Given the description of an element on the screen output the (x, y) to click on. 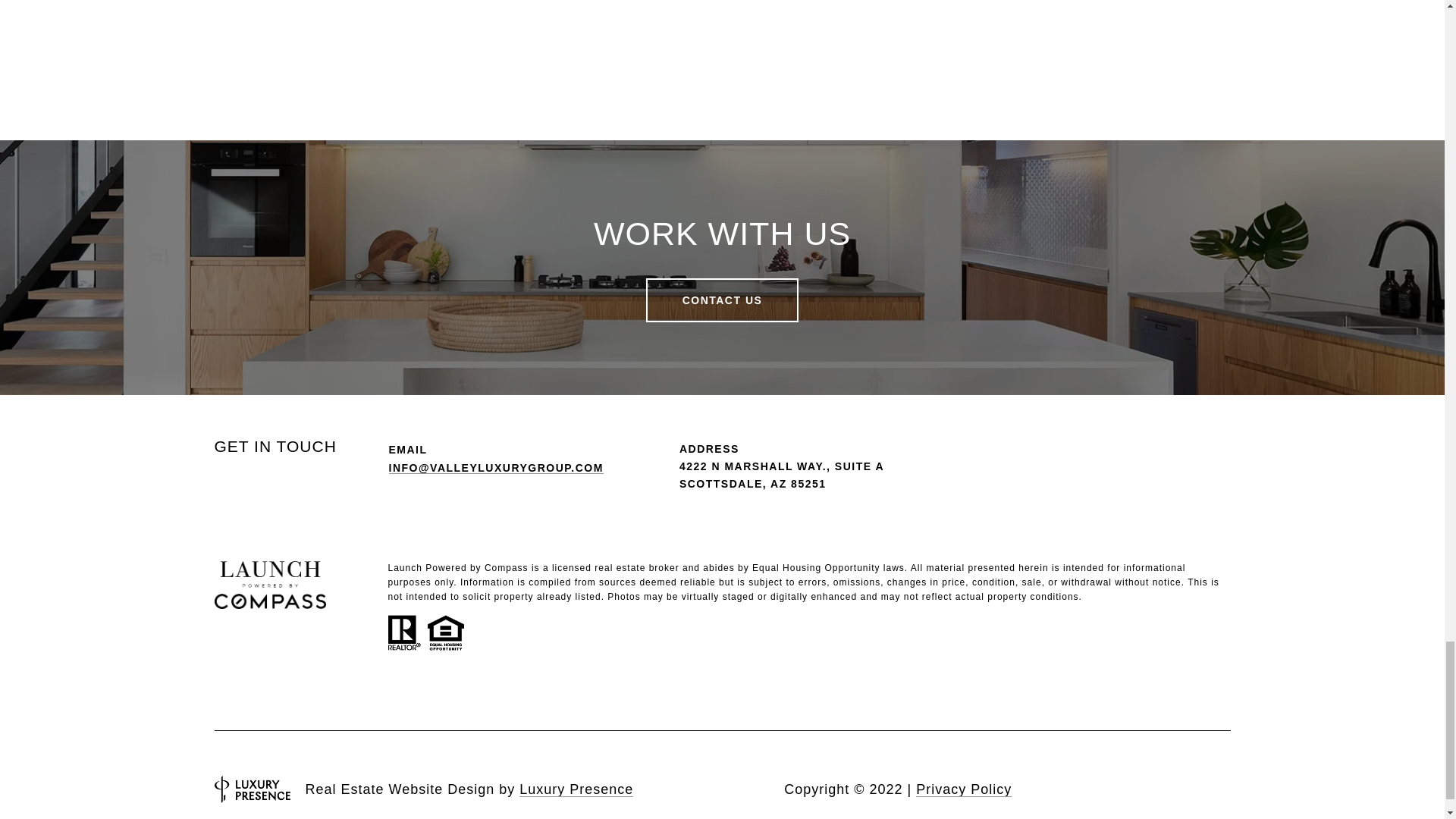
Luxury Presence (576, 789)
CONTACT US (722, 300)
Privacy Policy (963, 789)
